Given the description of an element on the screen output the (x, y) to click on. 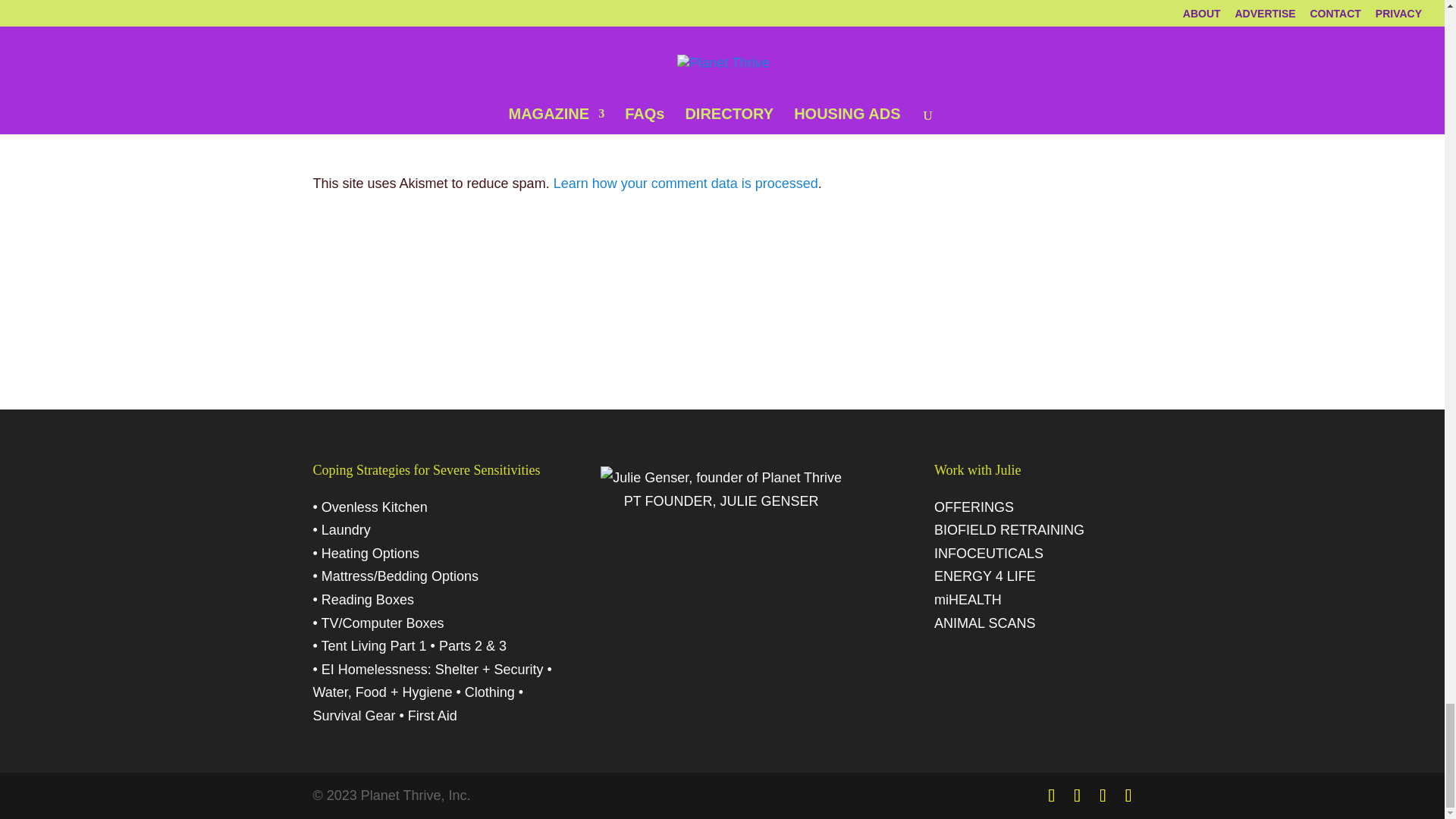
Julie Genser, founder of Planet Thrive (720, 477)
